Given the description of an element on the screen output the (x, y) to click on. 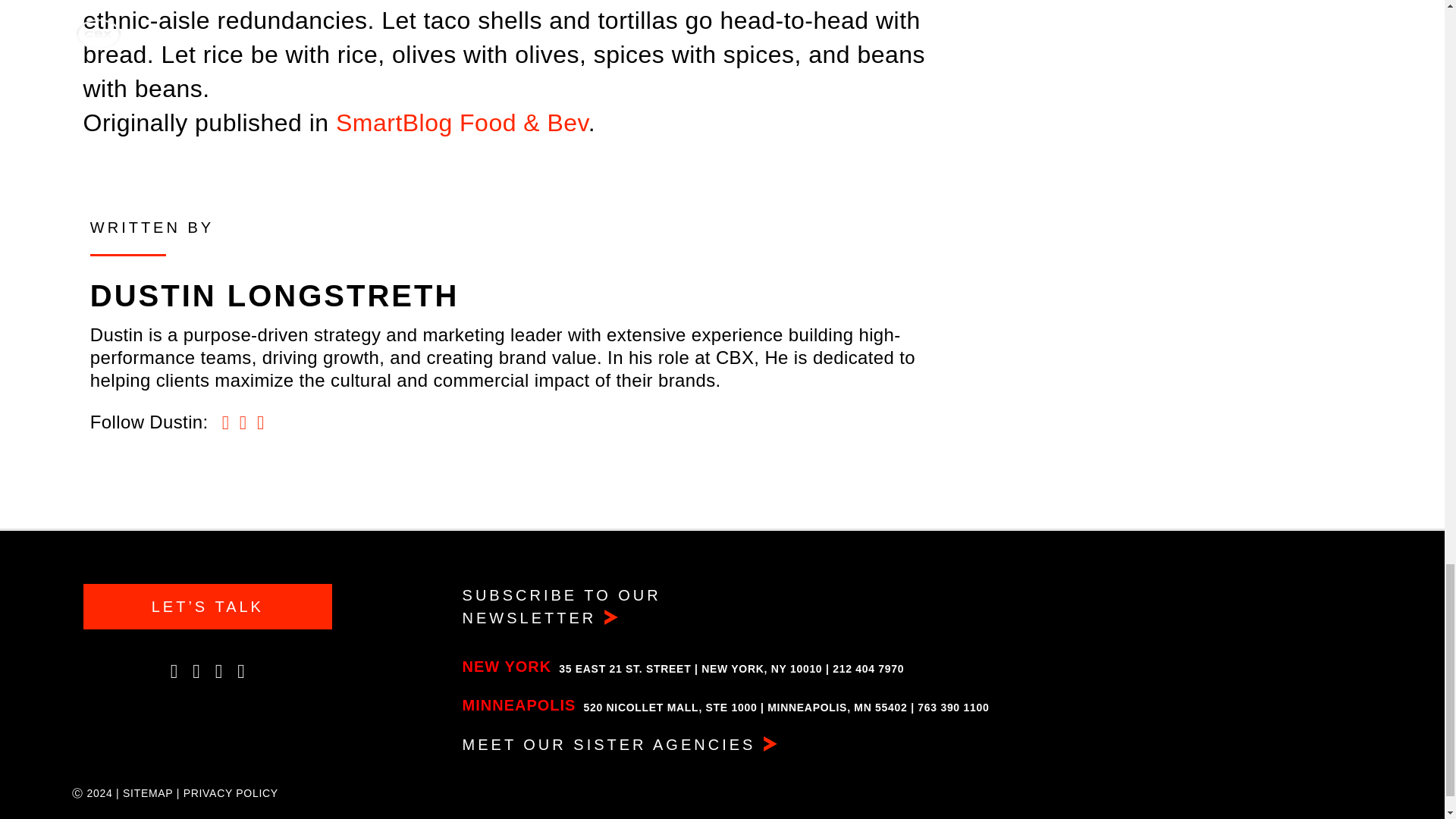
212 404 7970 (868, 668)
SUBSCRIBE TO OUR NEWSLETTER (626, 606)
763 390 1100 (952, 707)
763 390 1100 (952, 707)
35 East 21 St. street, New York, NY 10010 (690, 668)
SITEMAP (147, 793)
212 404 7970 (868, 668)
520 Nicollet Mall, Ste 1000, Minneapolis, MN 55402 (745, 707)
MEET OUR SISTER AGENCIES (626, 744)
PRIVACY POLICY (230, 793)
